Given the description of an element on the screen output the (x, y) to click on. 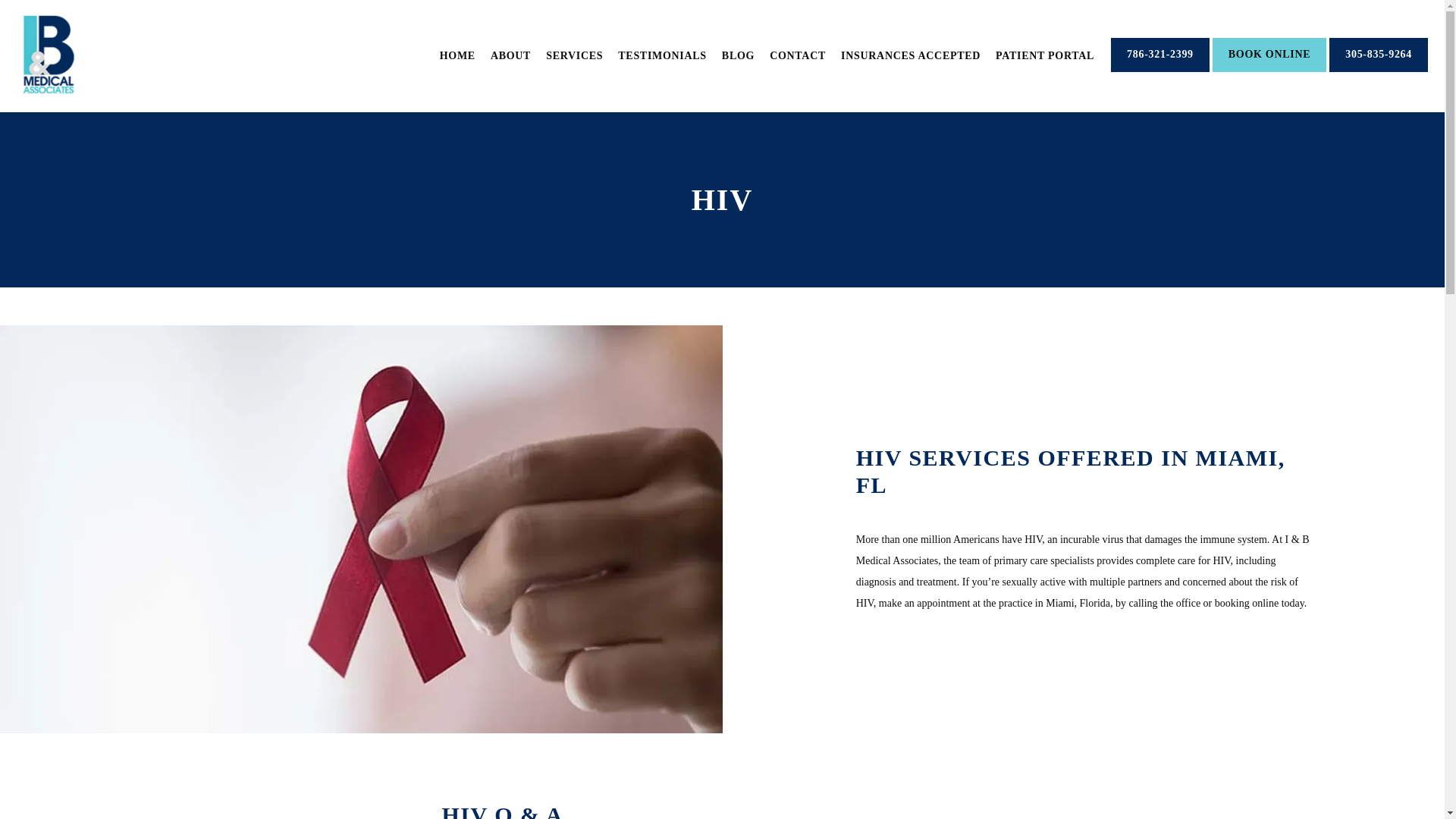
INSURANCES ACCEPTED (910, 55)
BOOK ONLINE (1269, 70)
ABOUT (510, 55)
PATIENT PORTAL (1044, 55)
TESTIMONIALS (661, 55)
BLOG (738, 55)
CONTACT (797, 55)
786-321-2399 (1160, 70)
305-835-9264 (1378, 70)
HOME (457, 55)
SERVICES (574, 55)
